Given the description of an element on the screen output the (x, y) to click on. 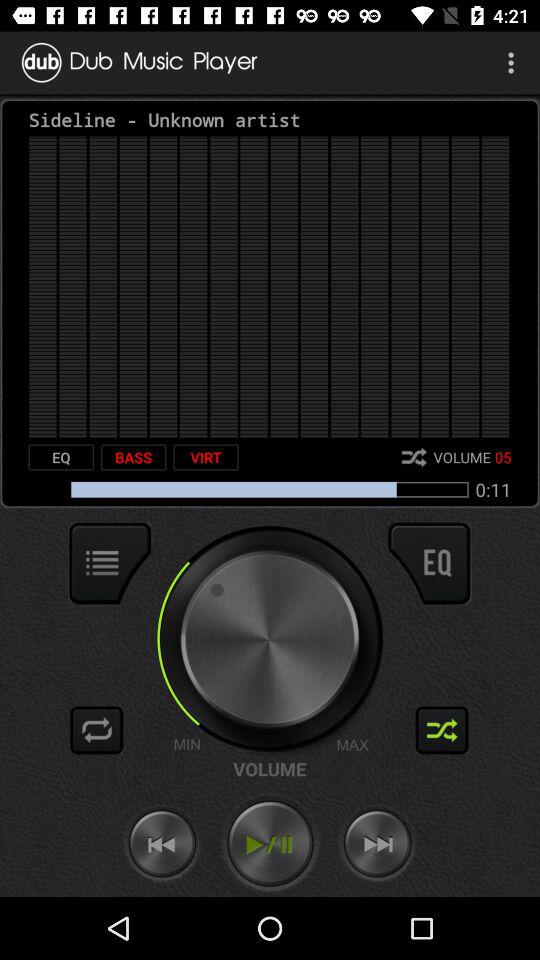
turn off the item next to the  virt  item (133, 457)
